Given the description of an element on the screen output the (x, y) to click on. 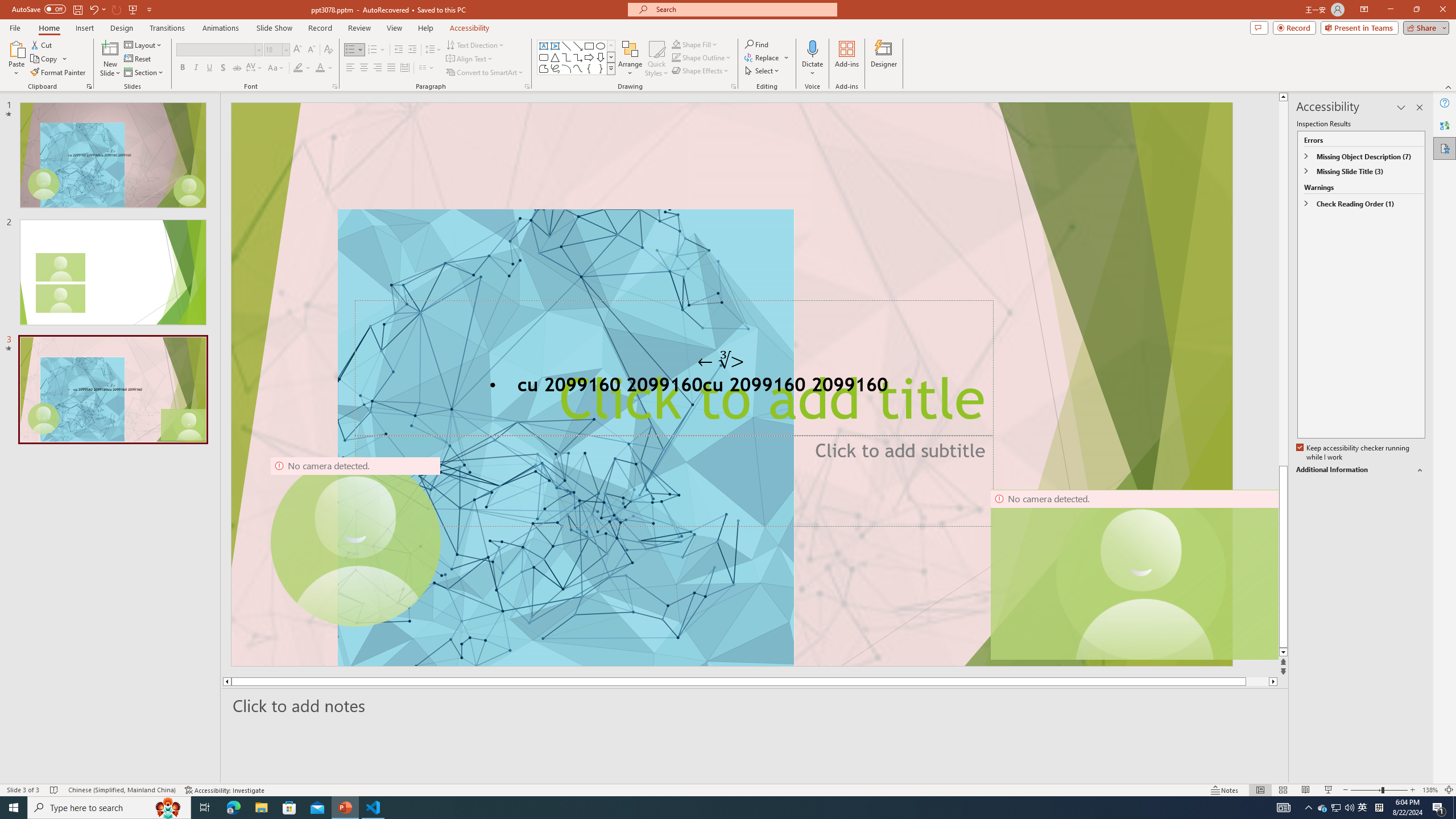
An abstract genetic concept (731, 384)
Additional Information (1360, 469)
Zoom 138% (1430, 790)
